Given the description of an element on the screen output the (x, y) to click on. 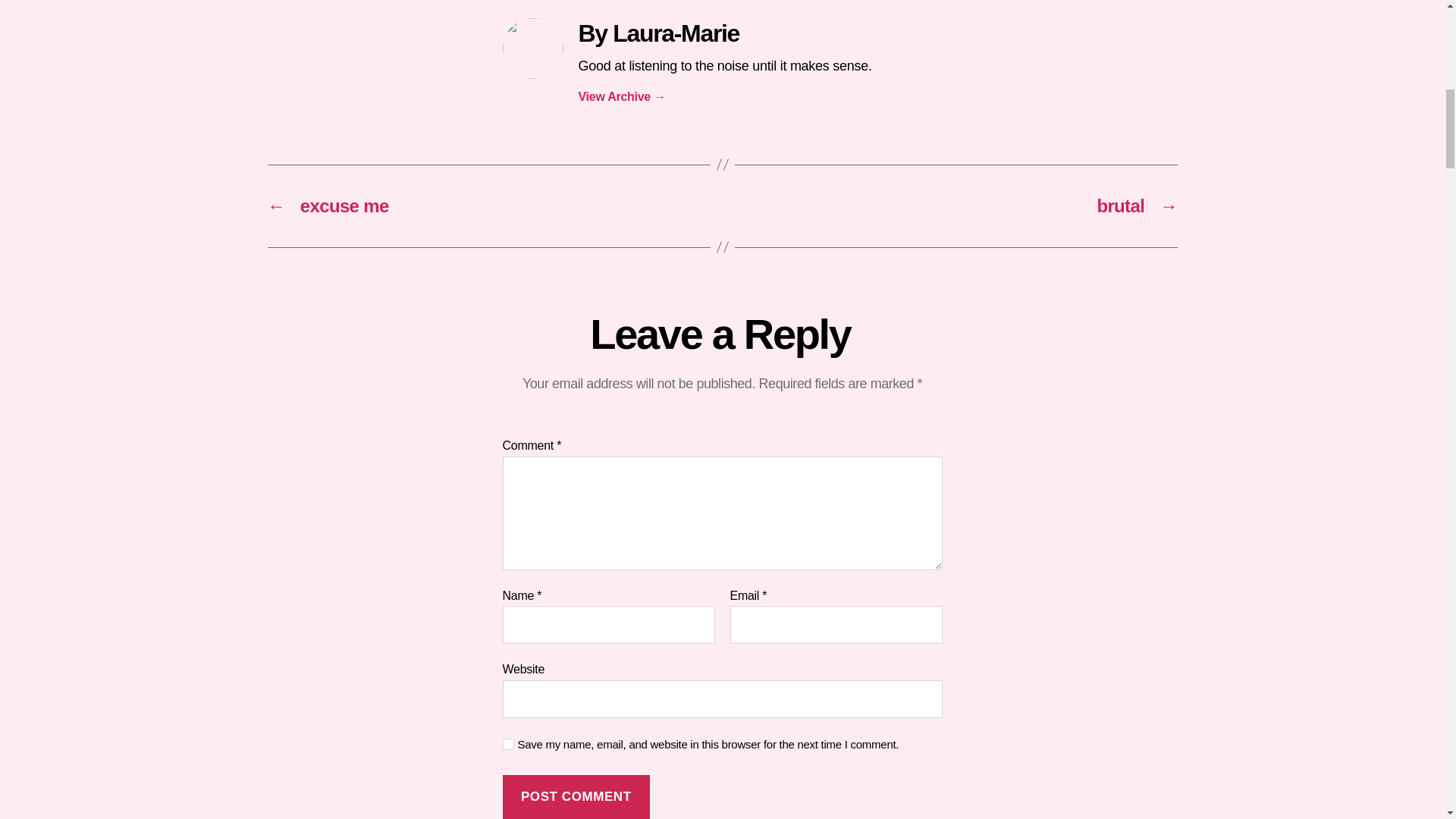
Post Comment (575, 796)
yes (507, 744)
